Given the description of an element on the screen output the (x, y) to click on. 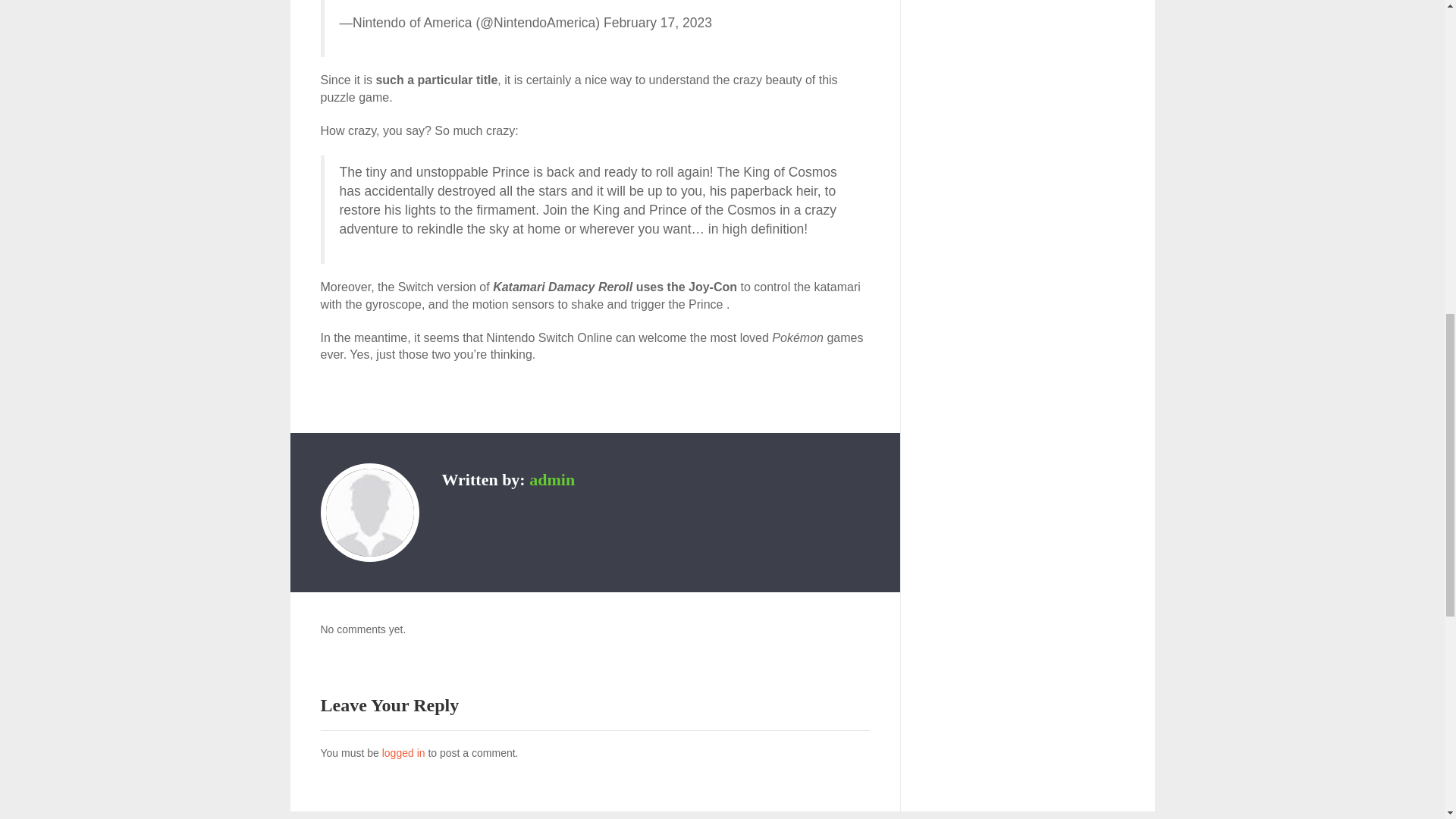
logged in (403, 752)
